Given the description of an element on the screen output the (x, y) to click on. 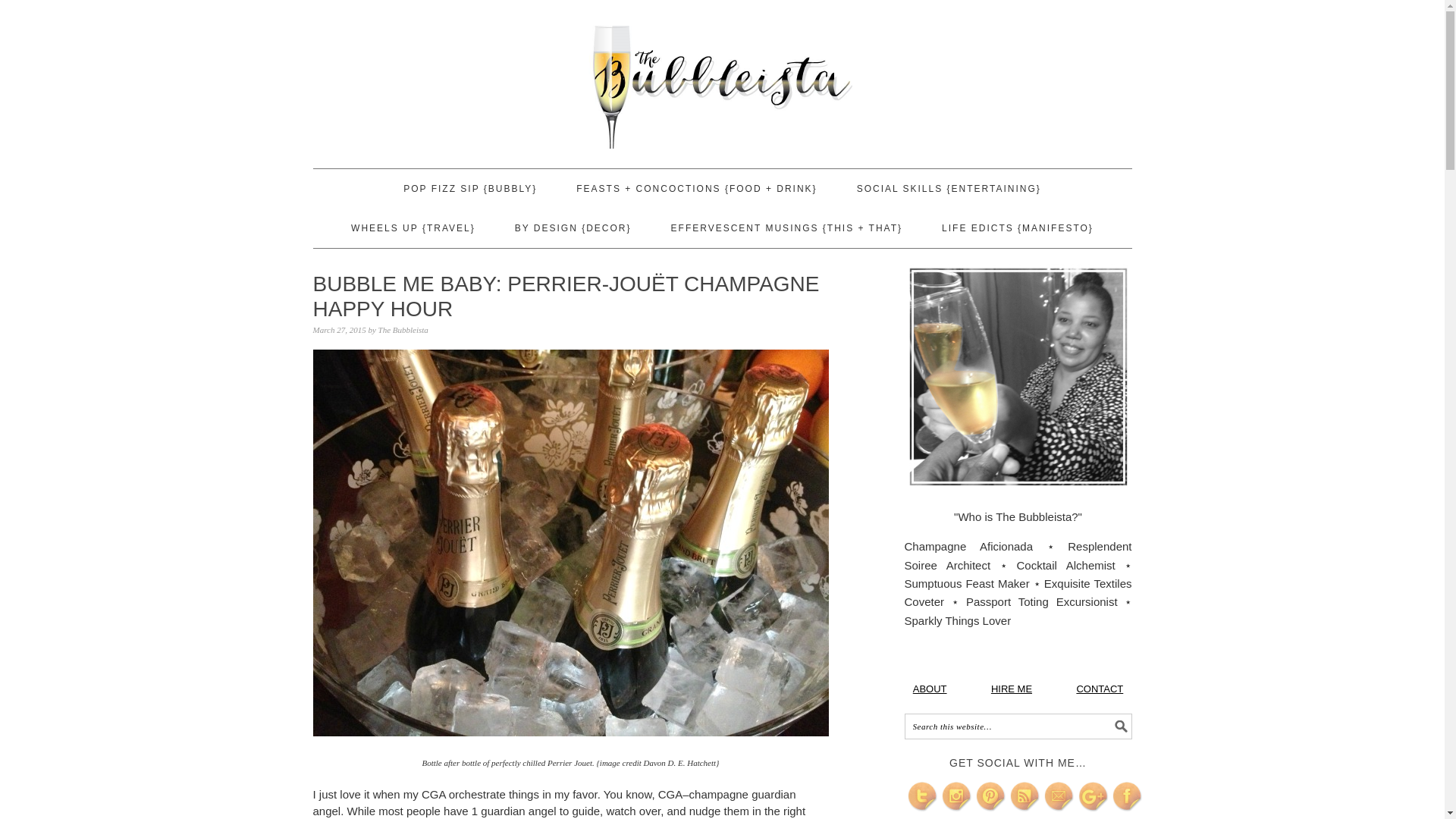
Facebook (1126, 797)
The Bubbleista (929, 687)
Instagram (957, 797)
RSS (1025, 797)
The Bubbleista (1098, 687)
The Bubbleista (403, 329)
The Bubbleista (1011, 687)
Twitter (922, 797)
THE BUBBLEISTA (722, 77)
Pinterest (990, 797)
Follow by Email (1058, 797)
